Given the description of an element on the screen output the (x, y) to click on. 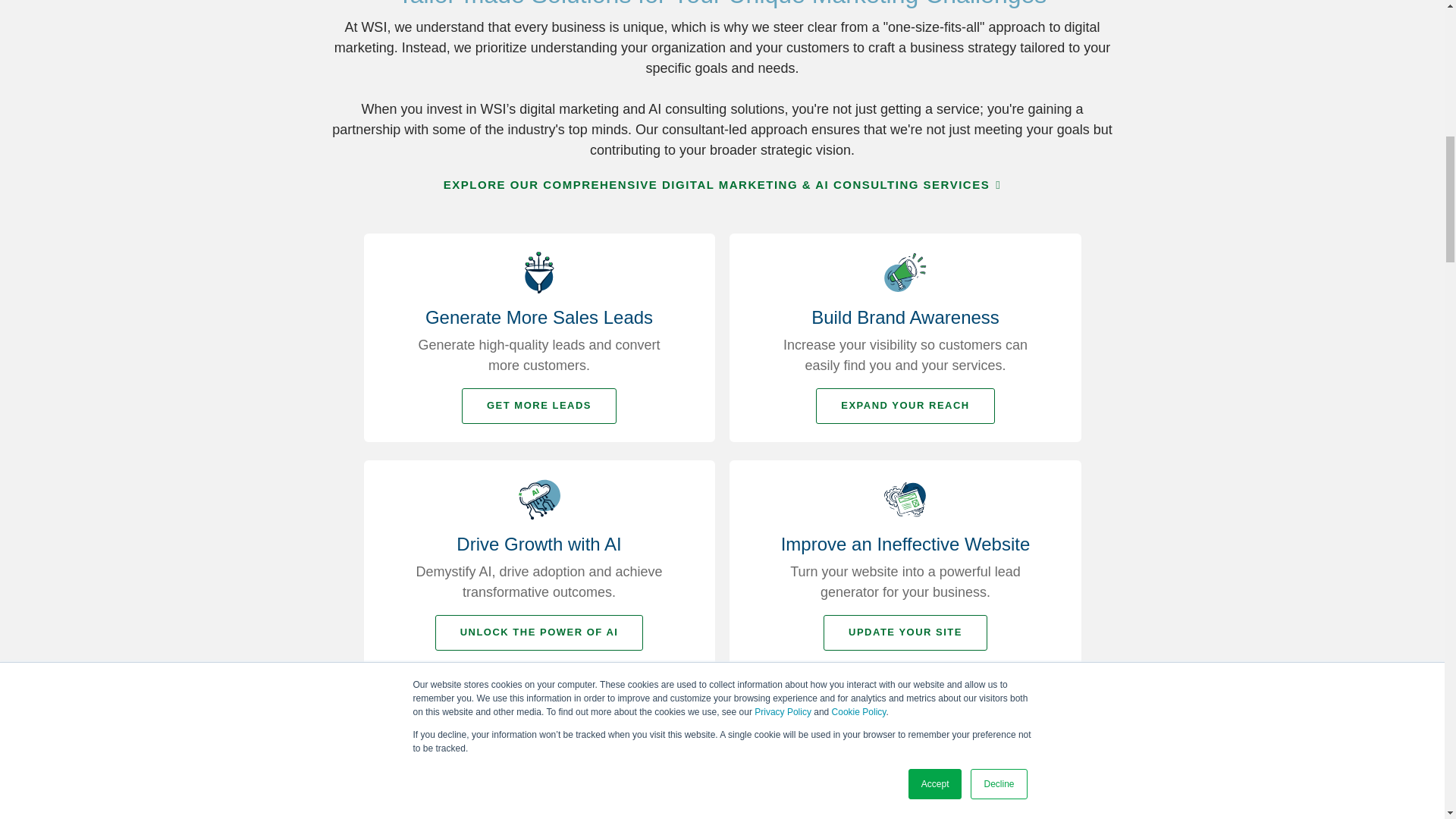
UPDATE YOUR SITE (905, 632)
EXPAND YOUR REACH (904, 406)
GET MORE LEADS (538, 406)
UNLOCK THE POWER OF AI (539, 632)
